Given the description of an element on the screen output the (x, y) to click on. 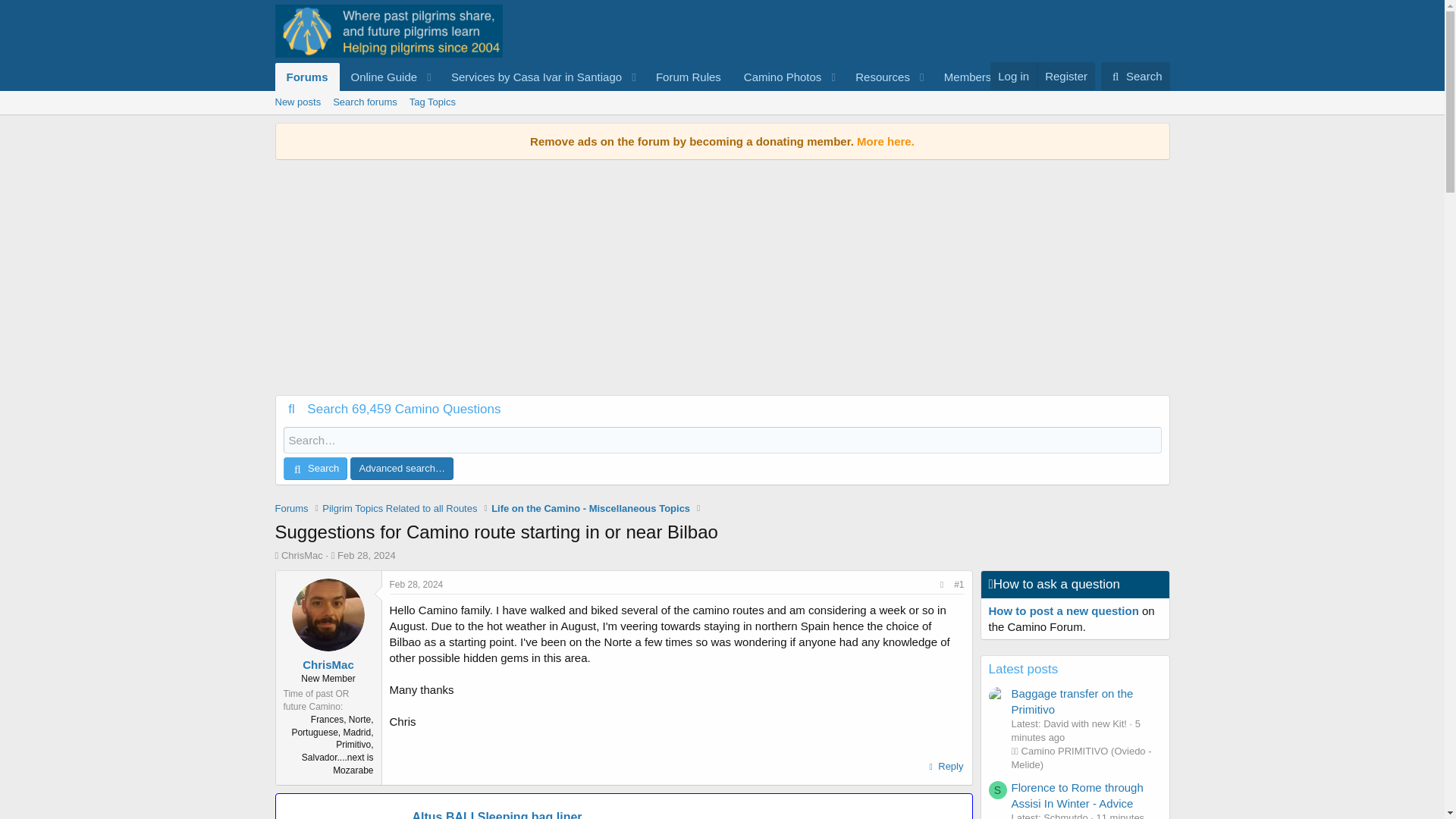
Search (1135, 76)
Forum Rules (688, 76)
Camino Photos (777, 76)
Forums (307, 76)
Online Guide (379, 76)
Reply, quoting this message (720, 101)
Services by Casa Ivar in Santiago (944, 766)
